Given the description of an element on the screen output the (x, y) to click on. 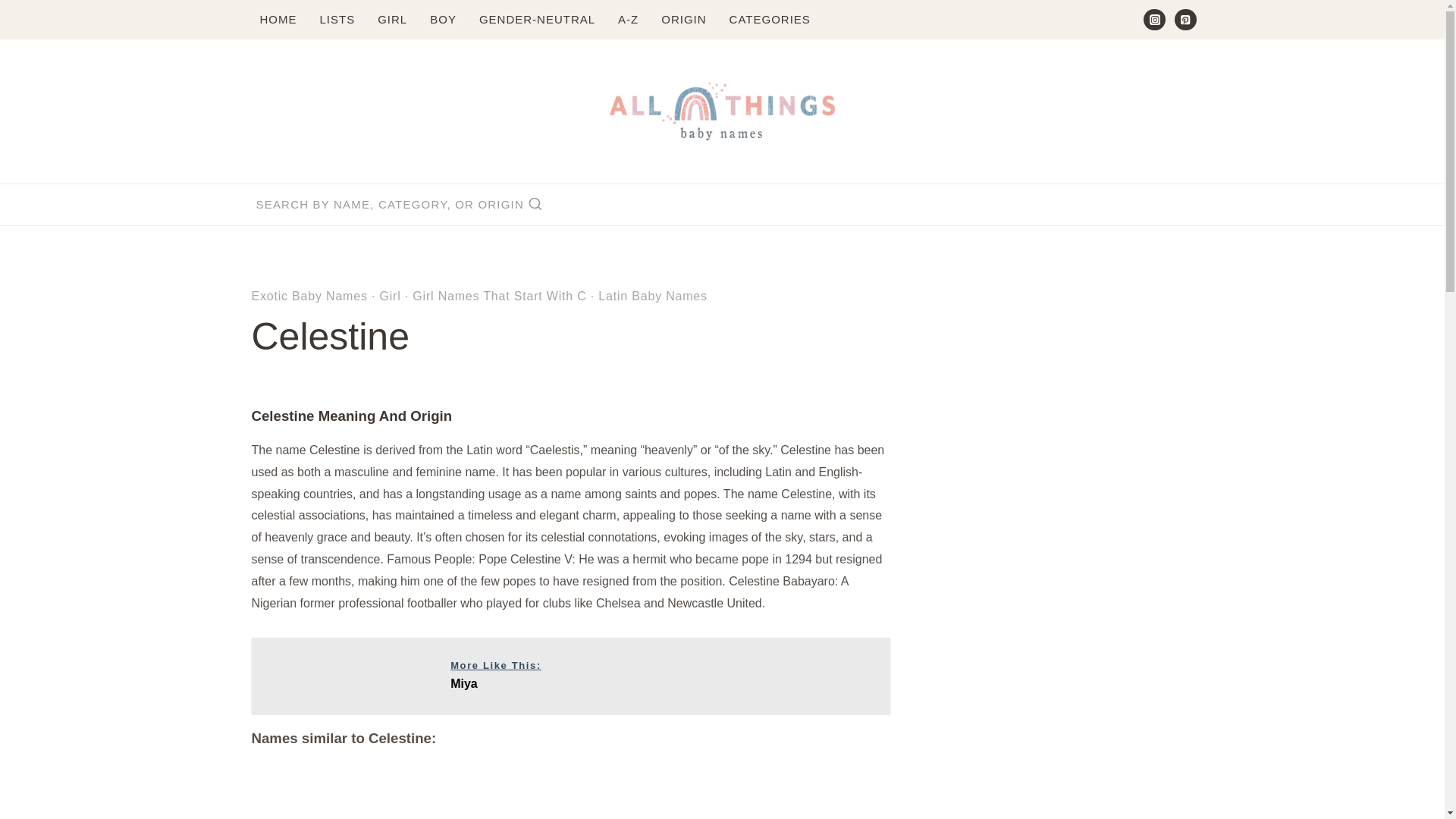
Latin Baby Names (652, 295)
LISTS (336, 20)
GIRL (392, 20)
BOY (443, 20)
A-Z (628, 20)
SEARCH BY NAME, CATEGORY, OR ORIGIN (399, 204)
ORIGIN (683, 20)
Girl (389, 295)
GENDER-NEUTRAL (537, 20)
CATEGORIES (769, 20)
